Given the description of an element on the screen output the (x, y) to click on. 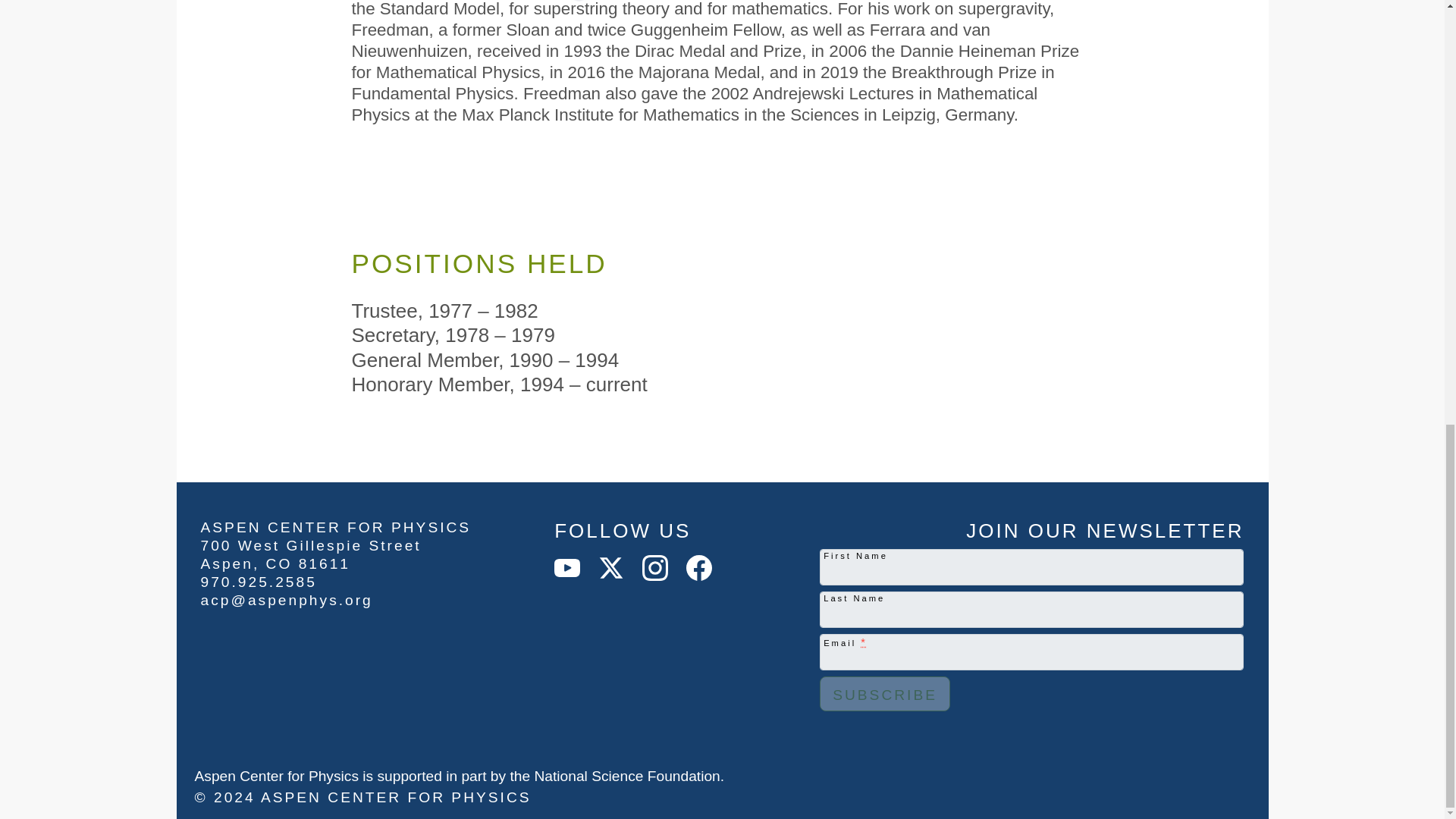
Subscribe (884, 693)
Subscribe (884, 693)
